Given the description of an element on the screen output the (x, y) to click on. 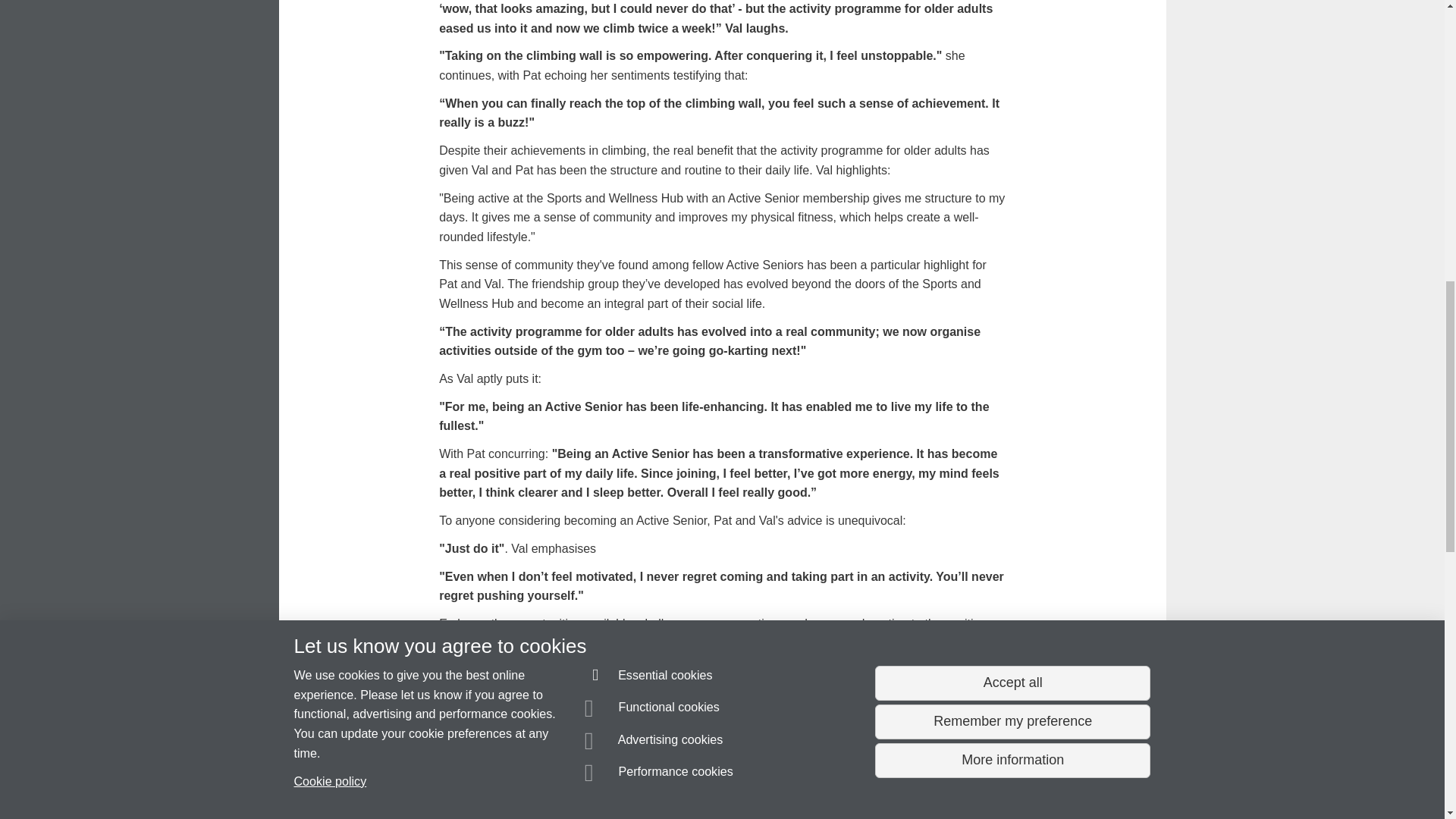
Active senior membership (611, 670)
